Given the description of an element on the screen output the (x, y) to click on. 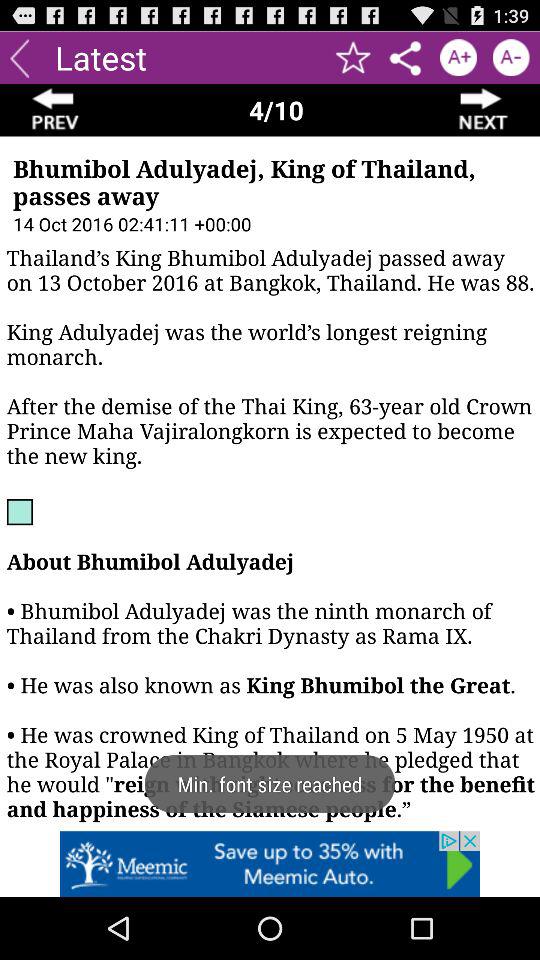
next button (483, 110)
